Given the description of an element on the screen output the (x, y) to click on. 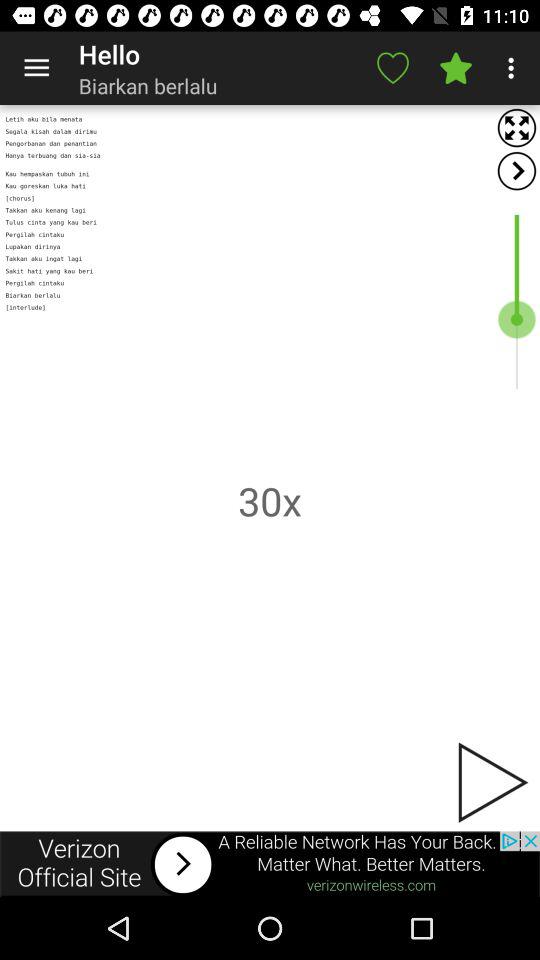
next page (491, 782)
